Given the description of an element on the screen output the (x, y) to click on. 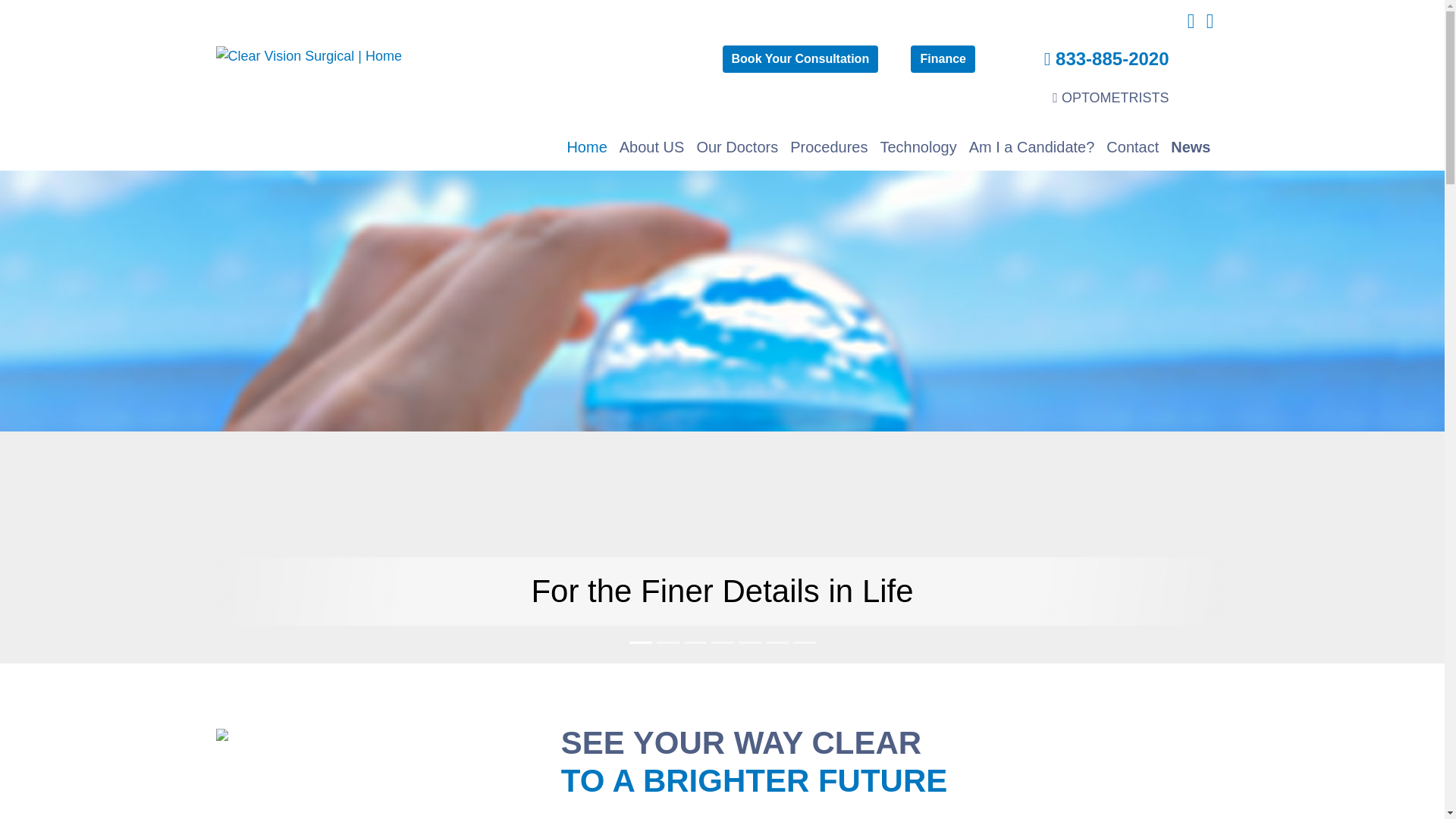
Procedures (828, 146)
OPTOMETRISTS (1110, 97)
Home (586, 146)
News (1189, 146)
Finance (942, 58)
Our Doctors (737, 146)
Contact (1132, 146)
833-885-2020 (1106, 58)
Book Your Consultation (800, 58)
Technology (917, 146)
About US (651, 146)
Am I a Candidate? (1031, 146)
